Given the description of an element on the screen output the (x, y) to click on. 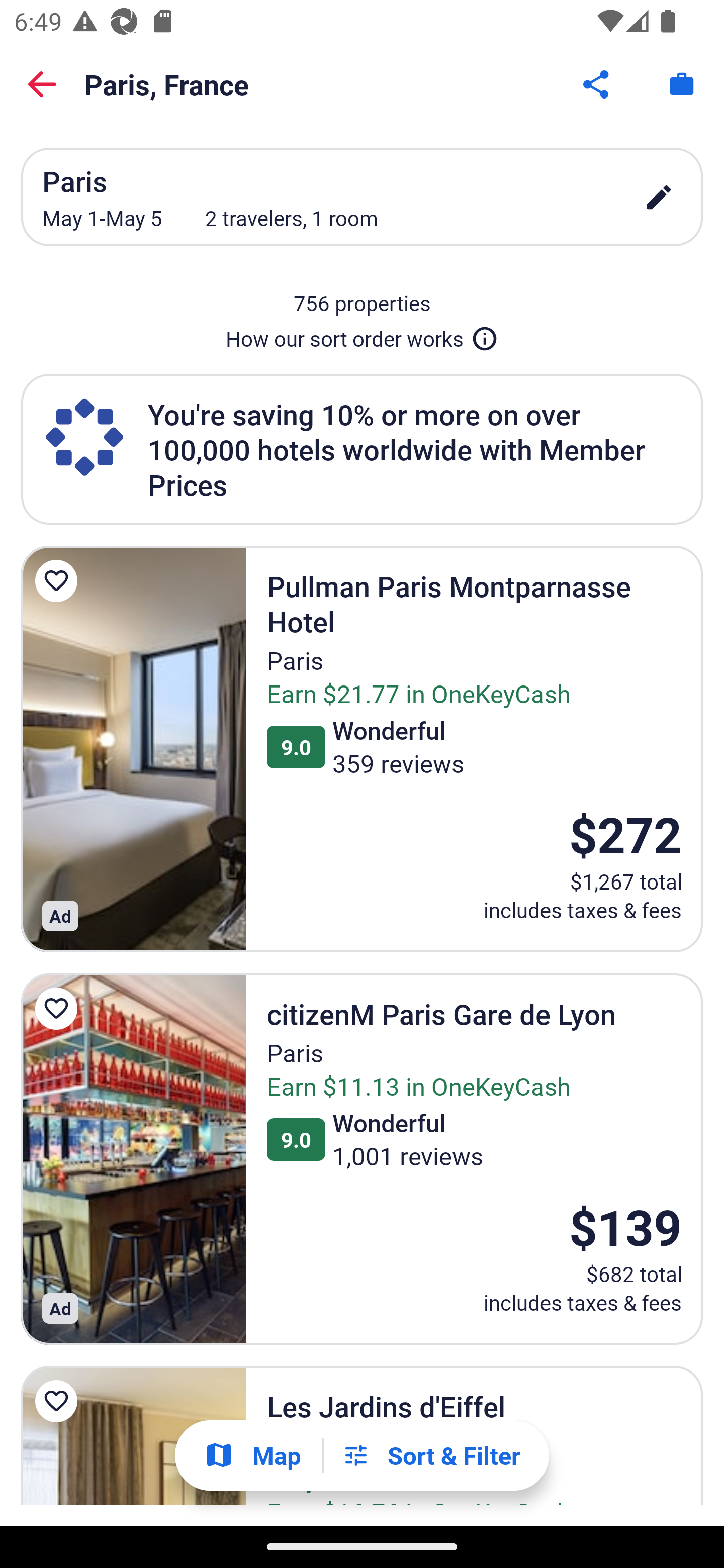
Back (42, 84)
Share Button (597, 84)
Trips. Button (681, 84)
Paris May 1-May 5 2 travelers, 1 room edit (361, 196)
How our sort order works (361, 334)
Save Pullman Paris Montparnasse Hotel to a trip (59, 580)
Pullman Paris Montparnasse Hotel (133, 748)
Save citizenM Paris Gare de Lyon to a trip (59, 1007)
citizenM Paris Gare de Lyon (133, 1159)
Save Les Jardins d'Eiffel to a trip (59, 1401)
Filters Sort & Filter Filters Button (430, 1455)
Show map Map Show map Button (252, 1455)
